Given the description of an element on the screen output the (x, y) to click on. 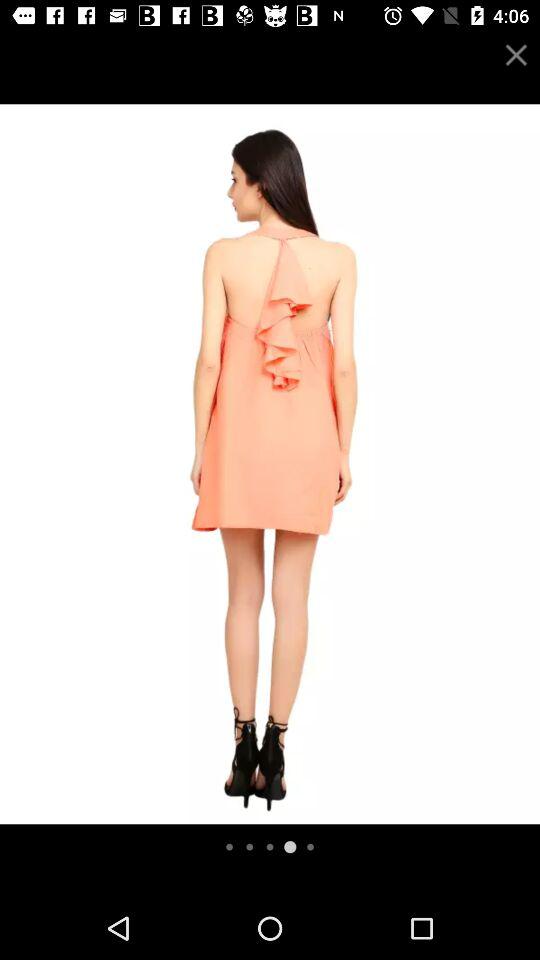
closing the image (516, 54)
